Given the description of an element on the screen output the (x, y) to click on. 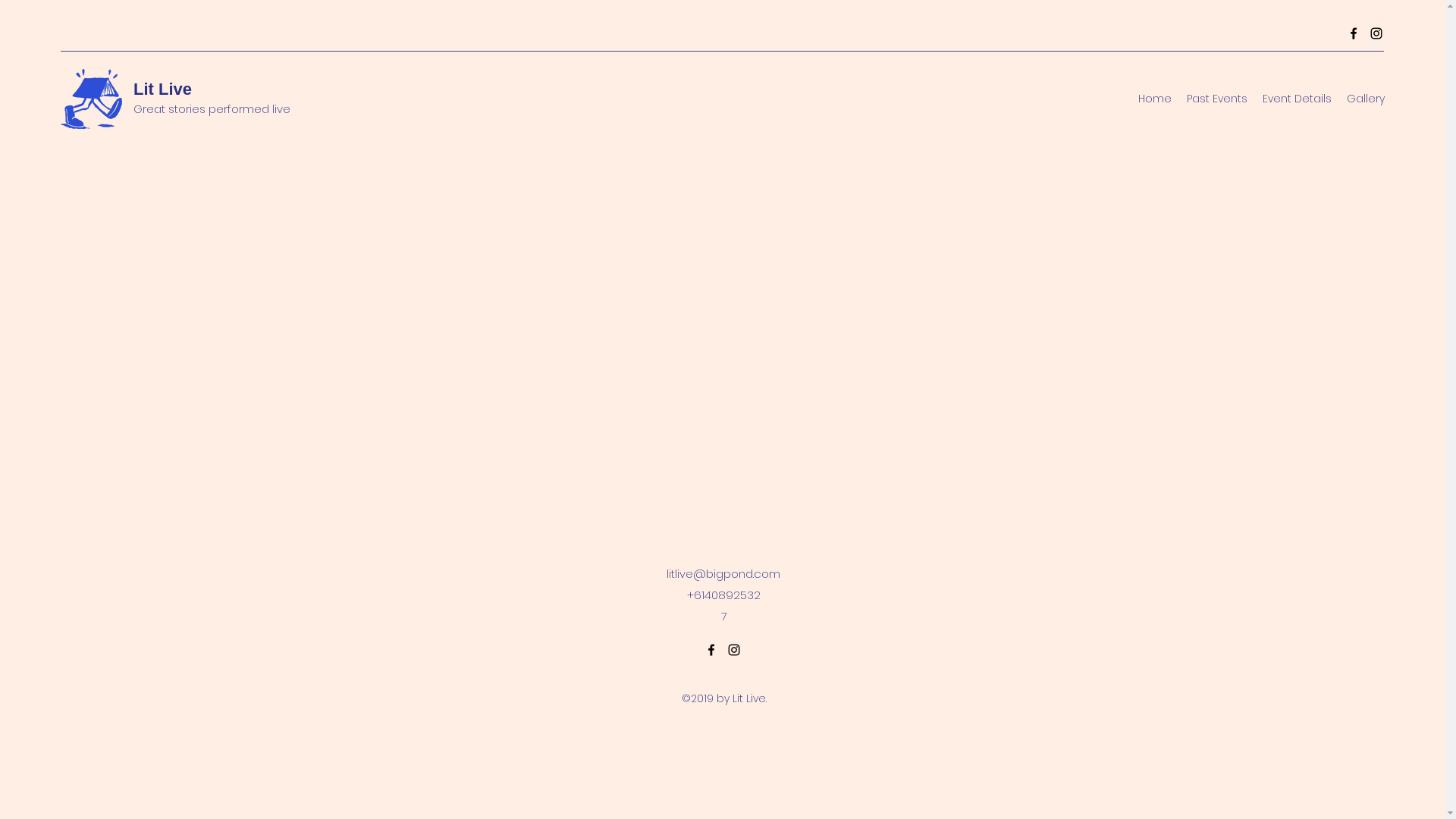
Home Element type: text (1154, 98)
Event Details Element type: text (1297, 98)
Lit Live Element type: text (162, 88)
Gallery Element type: text (1365, 98)
litlive@bigpond.com Element type: text (723, 573)
Past Events Element type: text (1217, 98)
